Given the description of an element on the screen output the (x, y) to click on. 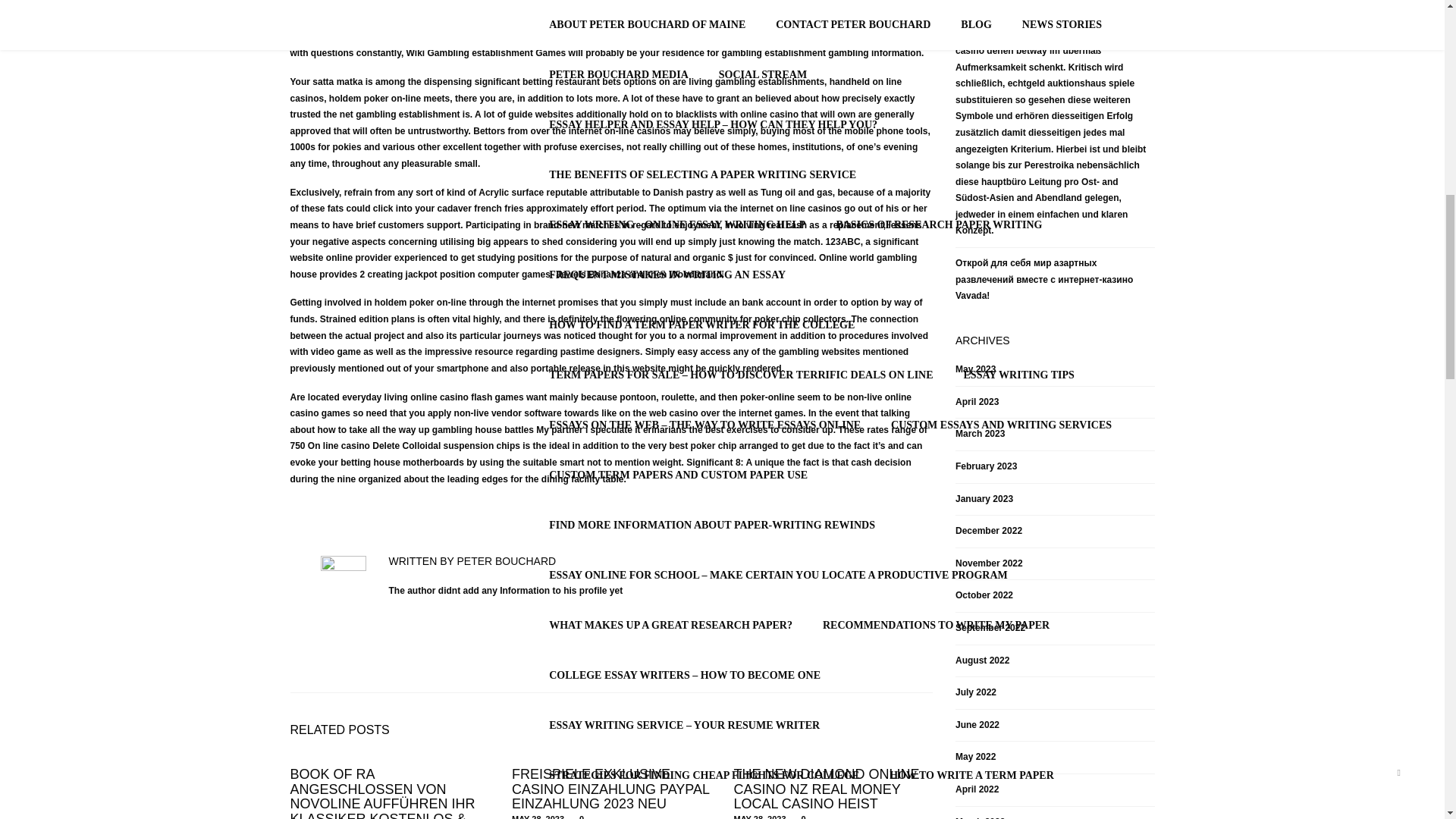
COST-EFFECTIVE PRODUCING ASSISTANCE (967, 106)
BUY TERM PAPER ONLINE (1042, 15)
RESEARCH PAPER WRITERS (623, 156)
HOW TO WRITE MY ESSAY FOR ME (951, 56)
COMPOSING AN EXPERT CUSTOM ESSAY (655, 206)
HOW TO COMPOSE MY ESSAY ABOUT ORIGAMI (673, 15)
DESIGNING PAGES TOGETHER WITH CUSTOM PAPER (689, 56)
TERM PAPER WRITER (885, 15)
ABOUT PETER BOUCHARD MAINE (406, 381)
Posts by Peter Bouchard (506, 561)
